Given the description of an element on the screen output the (x, y) to click on. 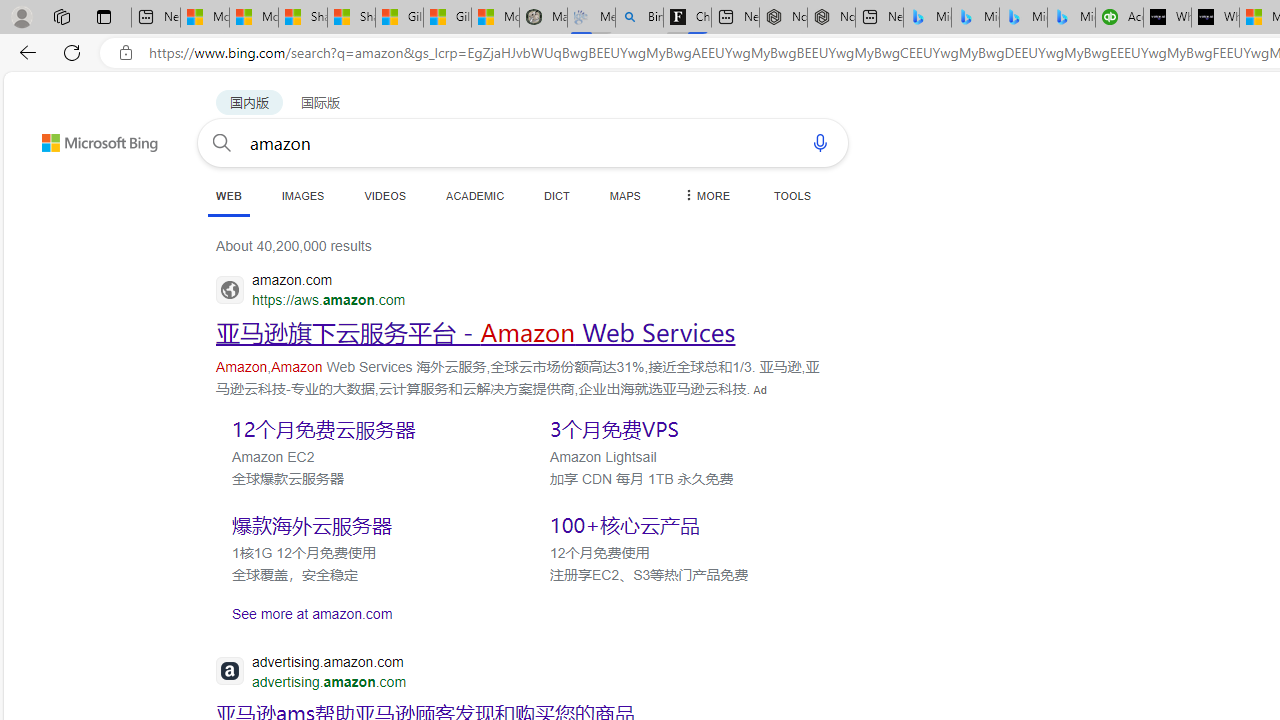
Personal Profile (21, 16)
Tab actions menu (104, 16)
Manatee Mortality Statistics | FWC (543, 17)
New tab (879, 17)
SERP,5552 (365, 525)
SERP,5551 (683, 428)
Search (221, 142)
Workspaces (61, 16)
Gilma and Hector both pose tropical trouble for Hawaii (447, 17)
Dropdown Menu (705, 195)
Refresh (72, 52)
VIDEOS (384, 195)
